Given the description of an element on the screen output the (x, y) to click on. 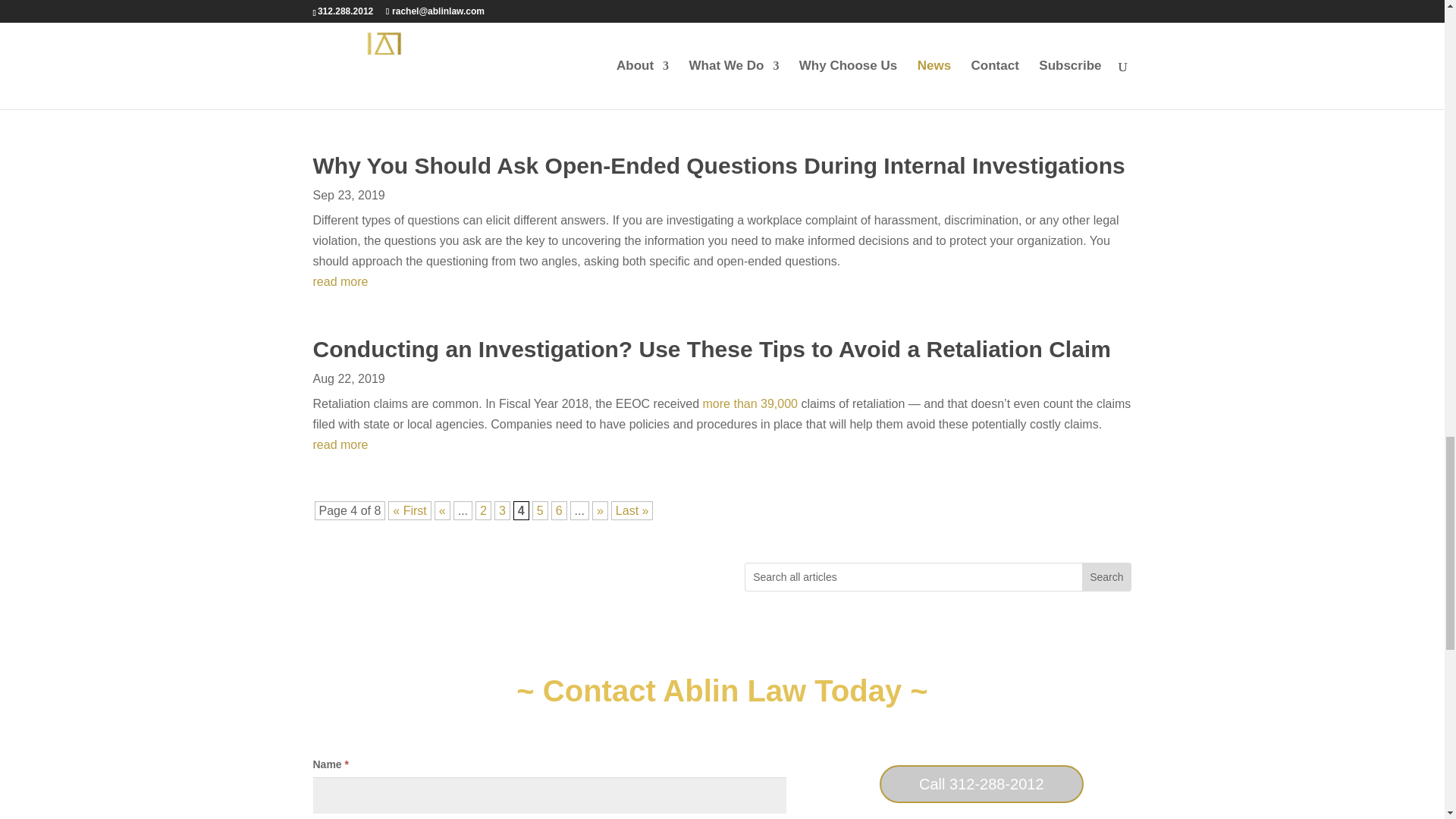
read more (722, 97)
read more (722, 281)
Search (1106, 576)
Search (1106, 576)
